Given the description of an element on the screen output the (x, y) to click on. 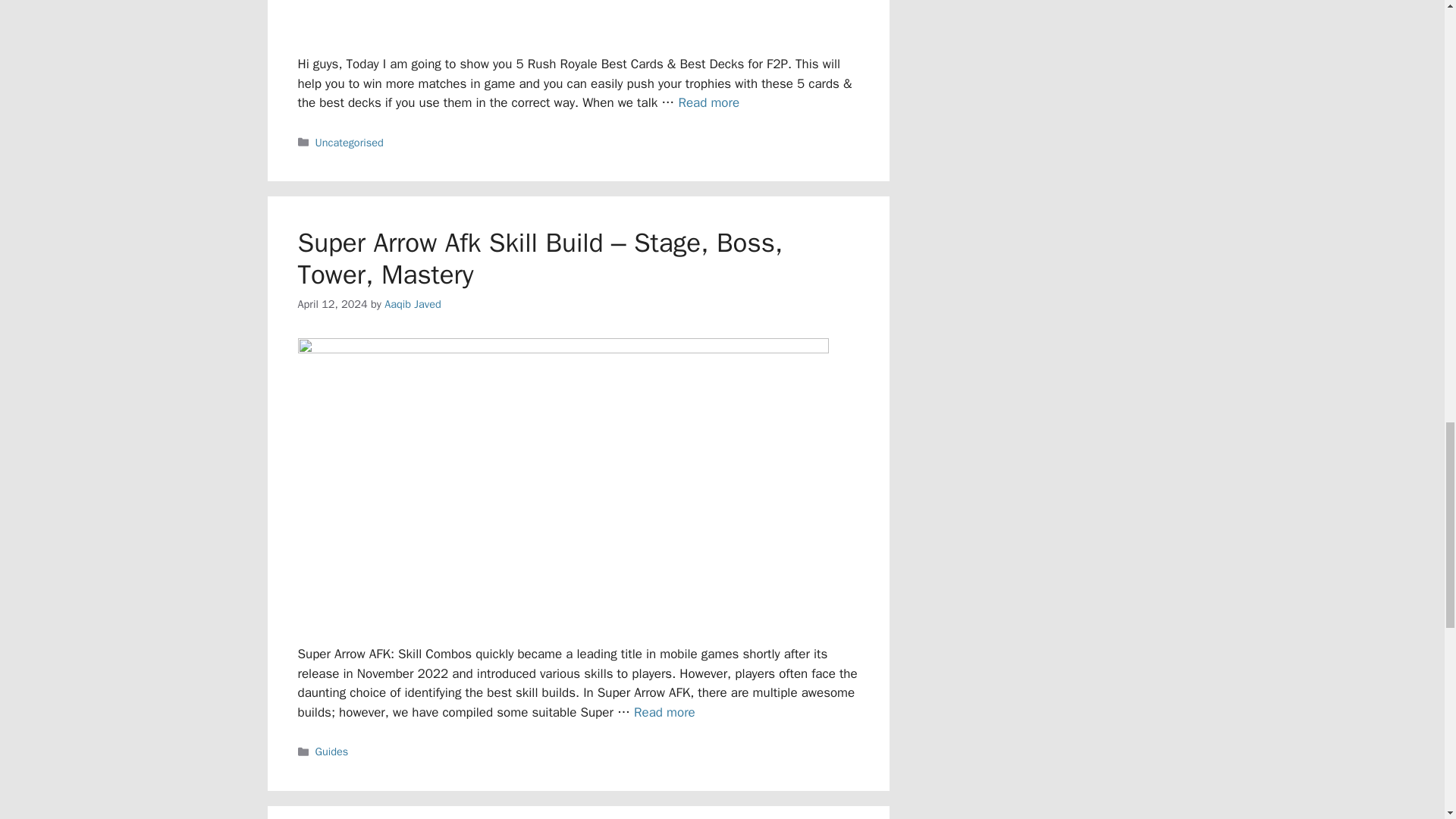
Uncategorised (349, 142)
Guides (332, 751)
Top 5 Rush Royale Best Cards 2024 (708, 102)
Read more (708, 102)
Aaqib Javed (412, 304)
Read more (664, 712)
View all posts by Aaqib Javed (412, 304)
